Given the description of an element on the screen output the (x, y) to click on. 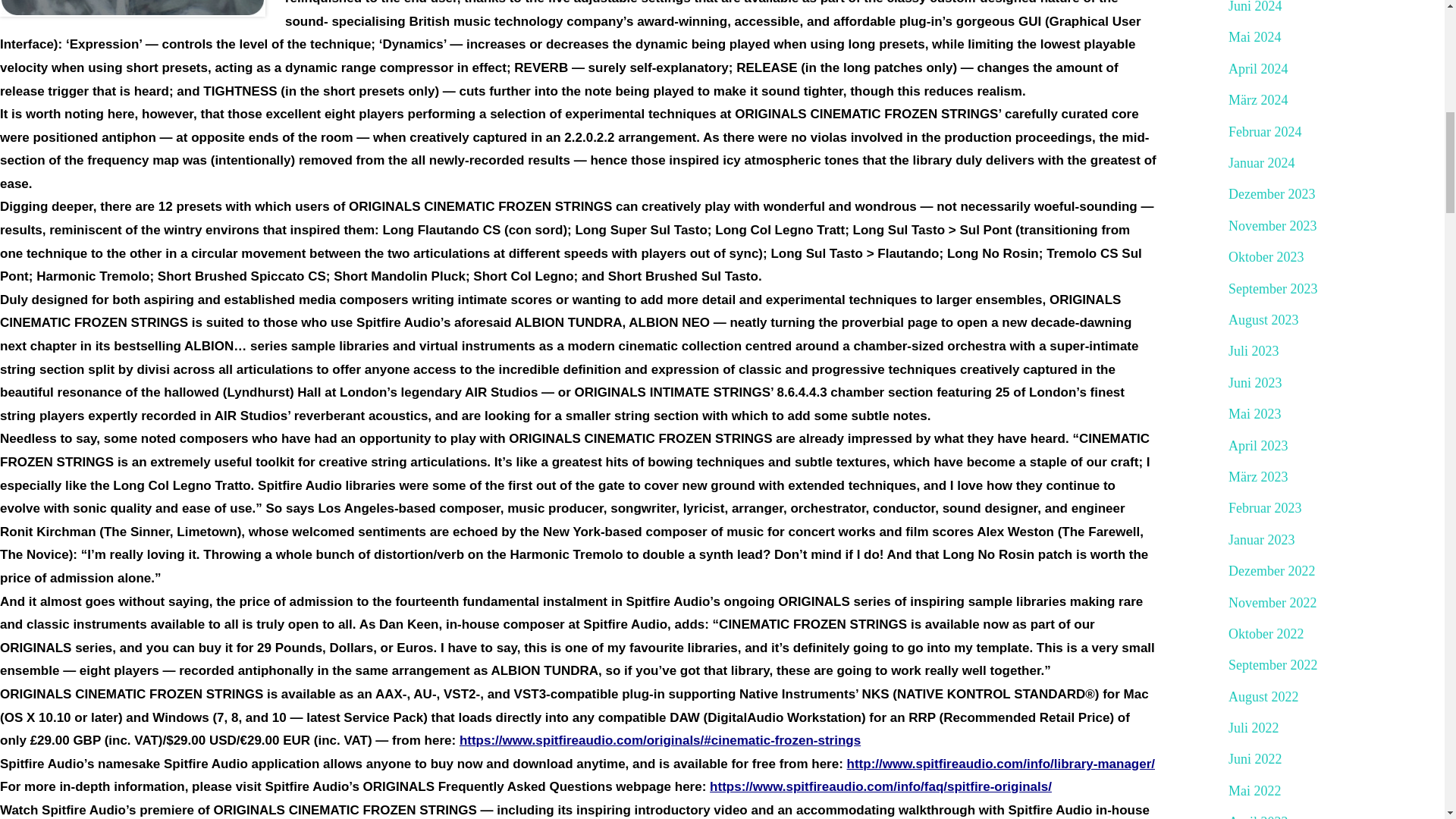
Juni 2024 (1255, 7)
Mai 2024 (1254, 37)
April 2024 (1258, 68)
